Given the description of an element on the screen output the (x, y) to click on. 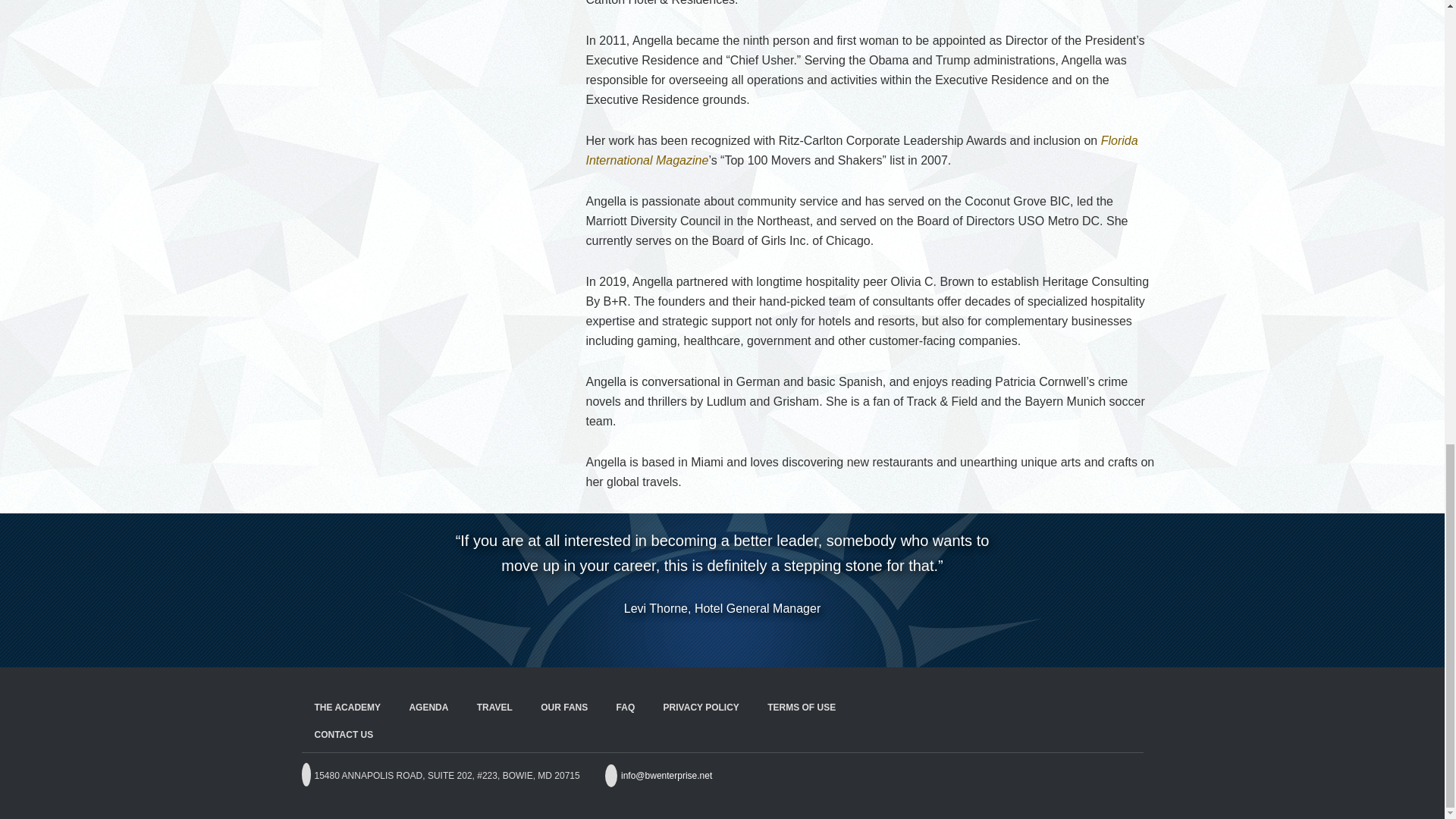
8 (776, 639)
4 (712, 639)
5 (727, 639)
1 (663, 639)
6 (744, 639)
3 (695, 639)
7 (759, 639)
2 (681, 639)
